Given the description of an element on the screen output the (x, y) to click on. 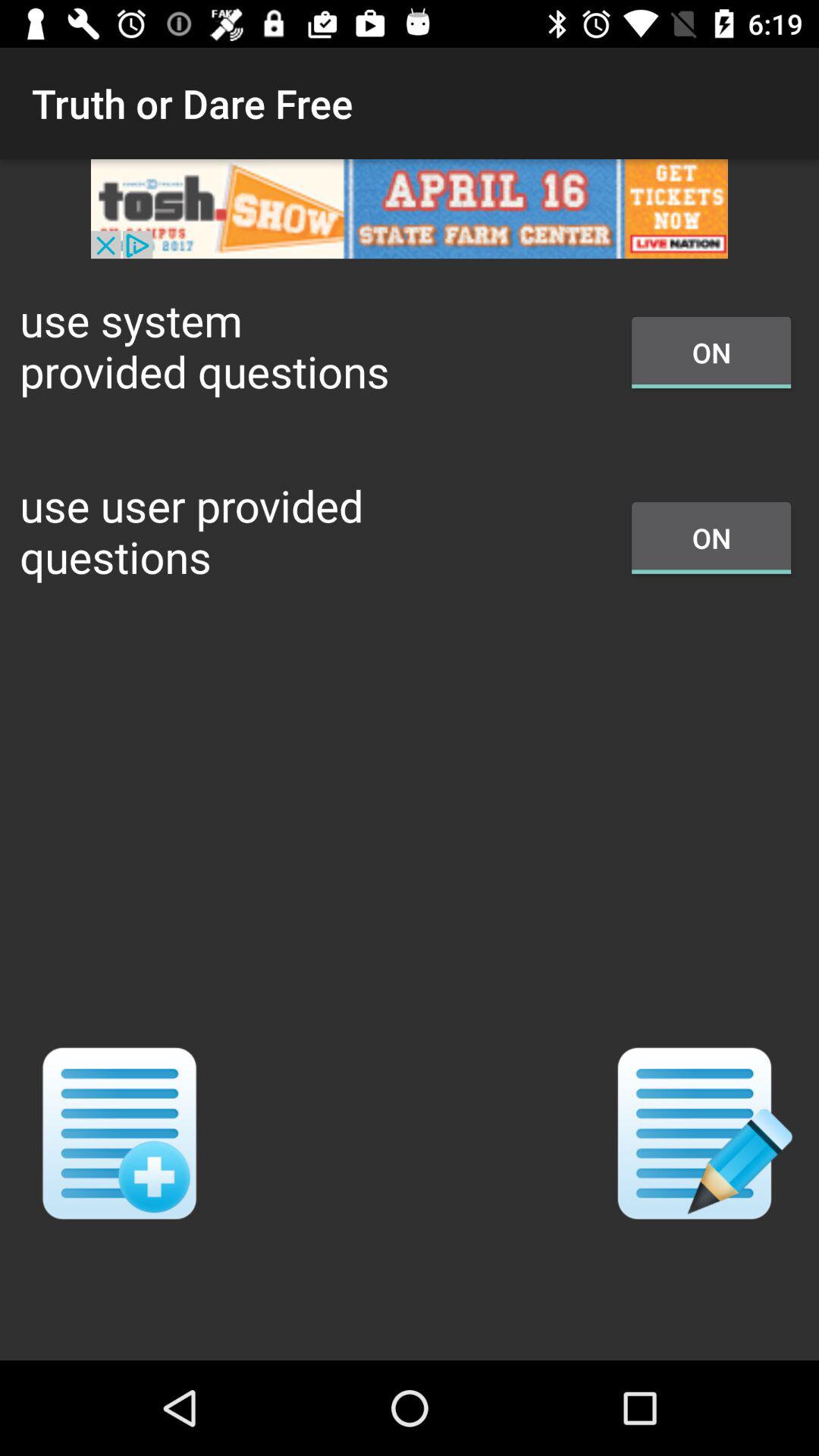
open advertisement (409, 208)
